Given the description of an element on the screen output the (x, y) to click on. 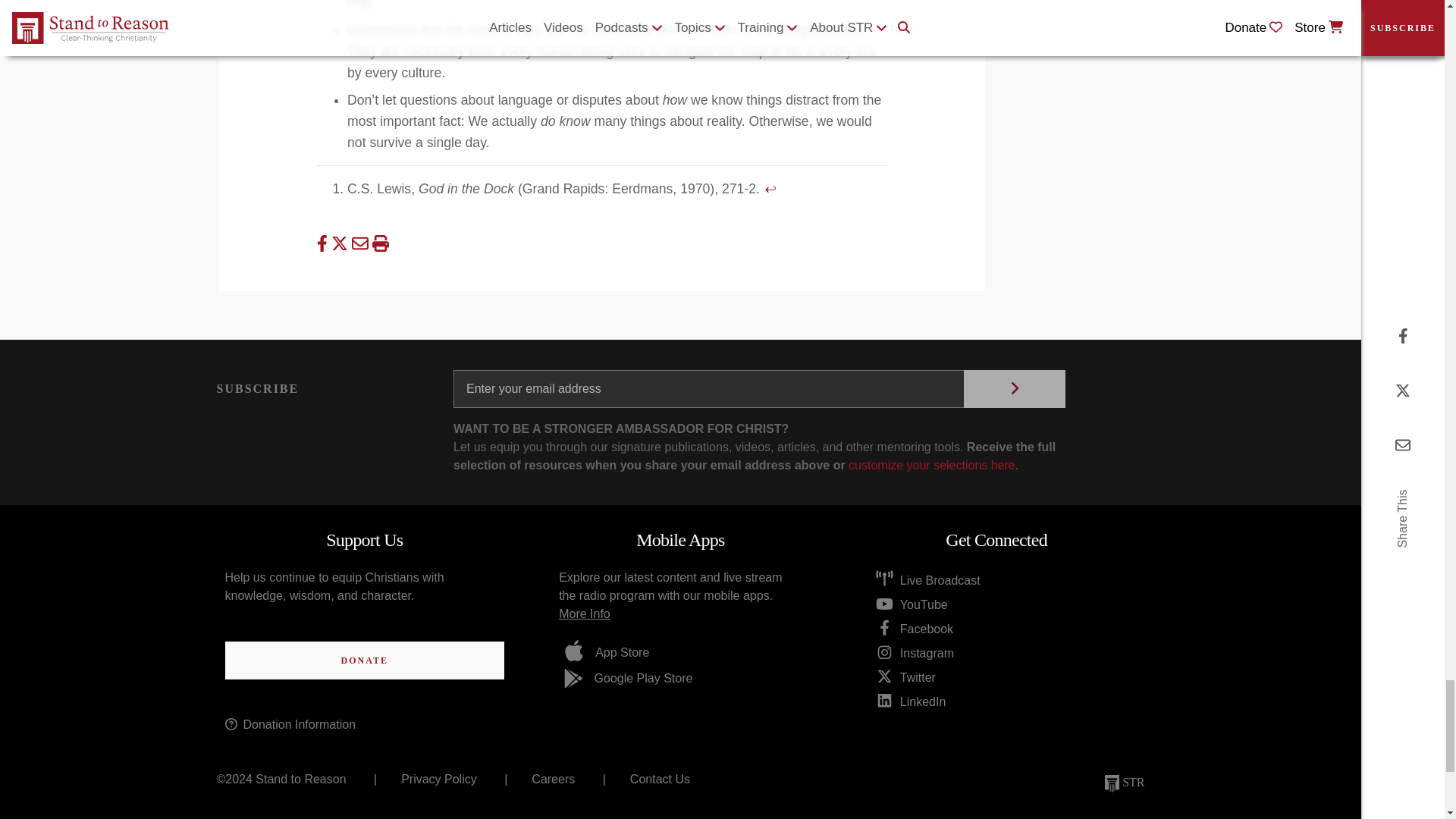
Email (362, 242)
Printer Friendly and PDF (379, 242)
Share on Facebook (324, 242)
Share on Twitter (341, 242)
